Given the description of an element on the screen output the (x, y) to click on. 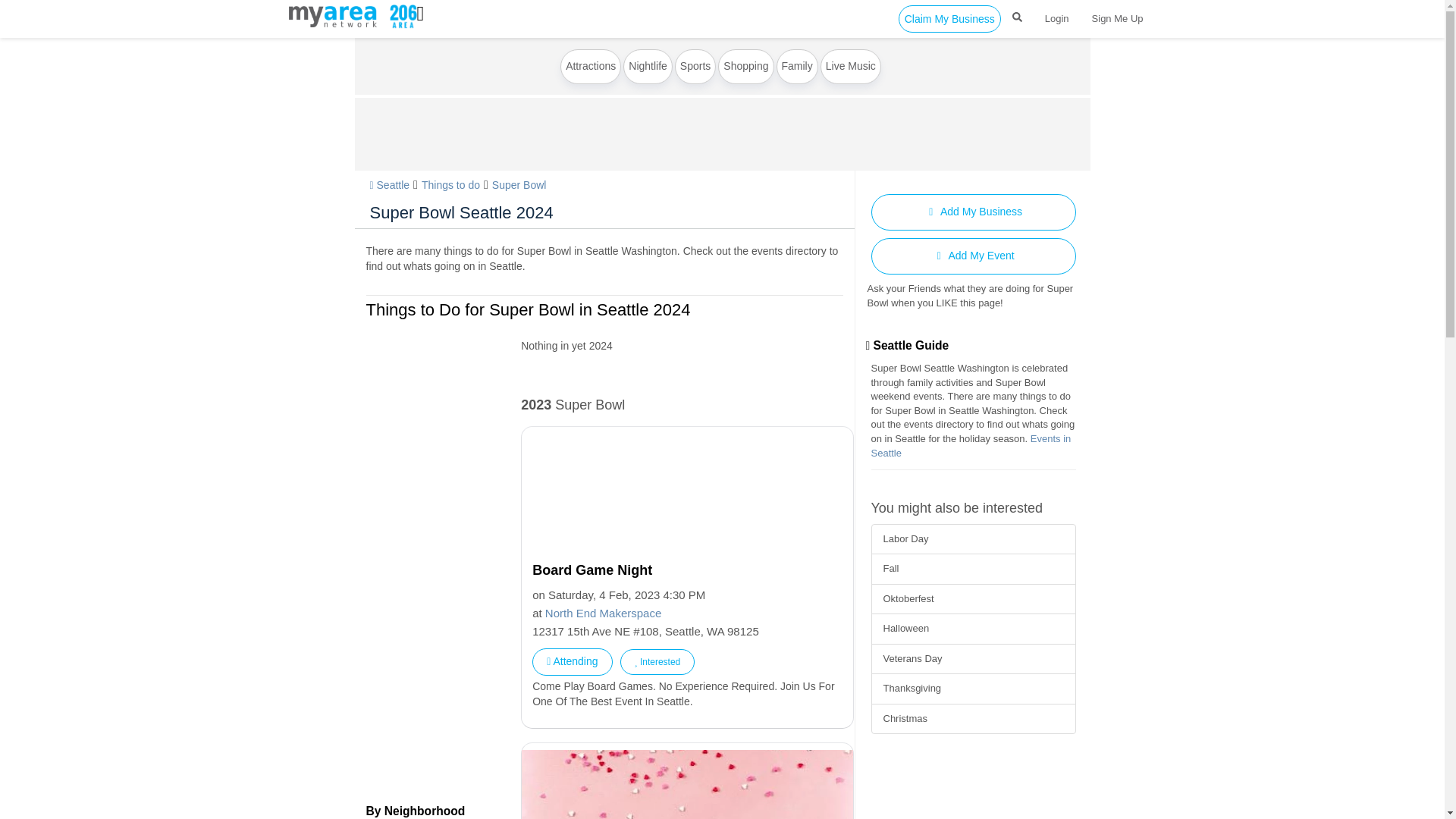
Sports (695, 66)
Super Bowl Seattle 2024 (461, 212)
Attractions (590, 66)
Sign Me Up (1117, 18)
Nightlife (647, 66)
Attractions (590, 66)
Board Game Night (690, 570)
Login (1056, 18)
Live Music (850, 66)
Nightlife (647, 66)
Family (797, 66)
Sign Me Up (1117, 18)
Things to do (451, 184)
Shopping (745, 66)
Claim My Business (949, 18)
